Given the description of an element on the screen output the (x, y) to click on. 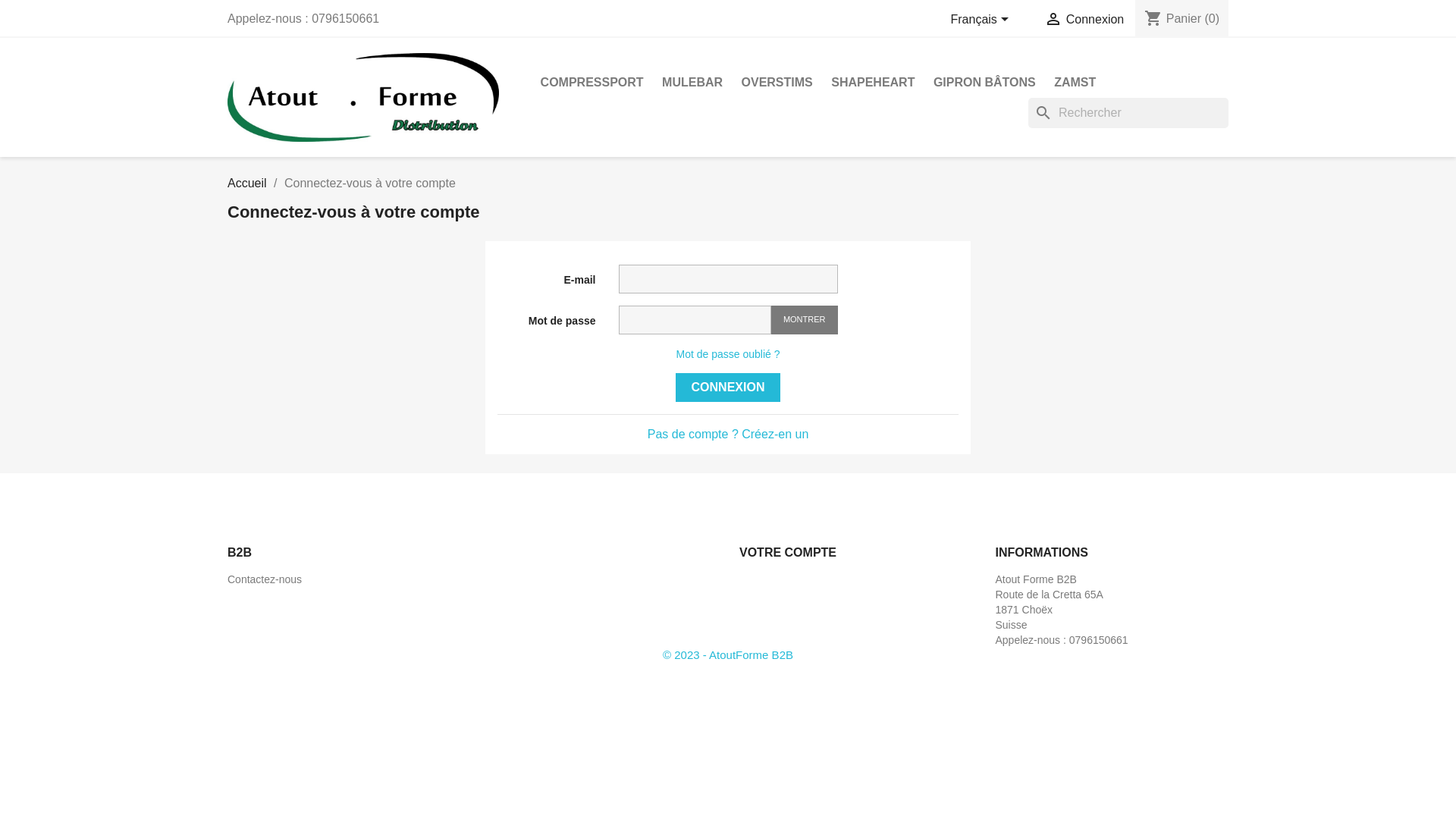
ZAMST Element type: text (1074, 82)
OVERSTIMS Element type: text (777, 82)
VOTRE COMPTE Element type: text (787, 552)
MULEBAR Element type: text (692, 82)
COMPRESSPORT Element type: text (592, 82)
CONNEXION Element type: text (728, 387)
SHAPEHEART Element type: text (872, 82)
MONTRER Element type: text (804, 320)
Accueil Element type: text (246, 182)
Contactez-nous Element type: text (264, 579)
